Given the description of an element on the screen output the (x, y) to click on. 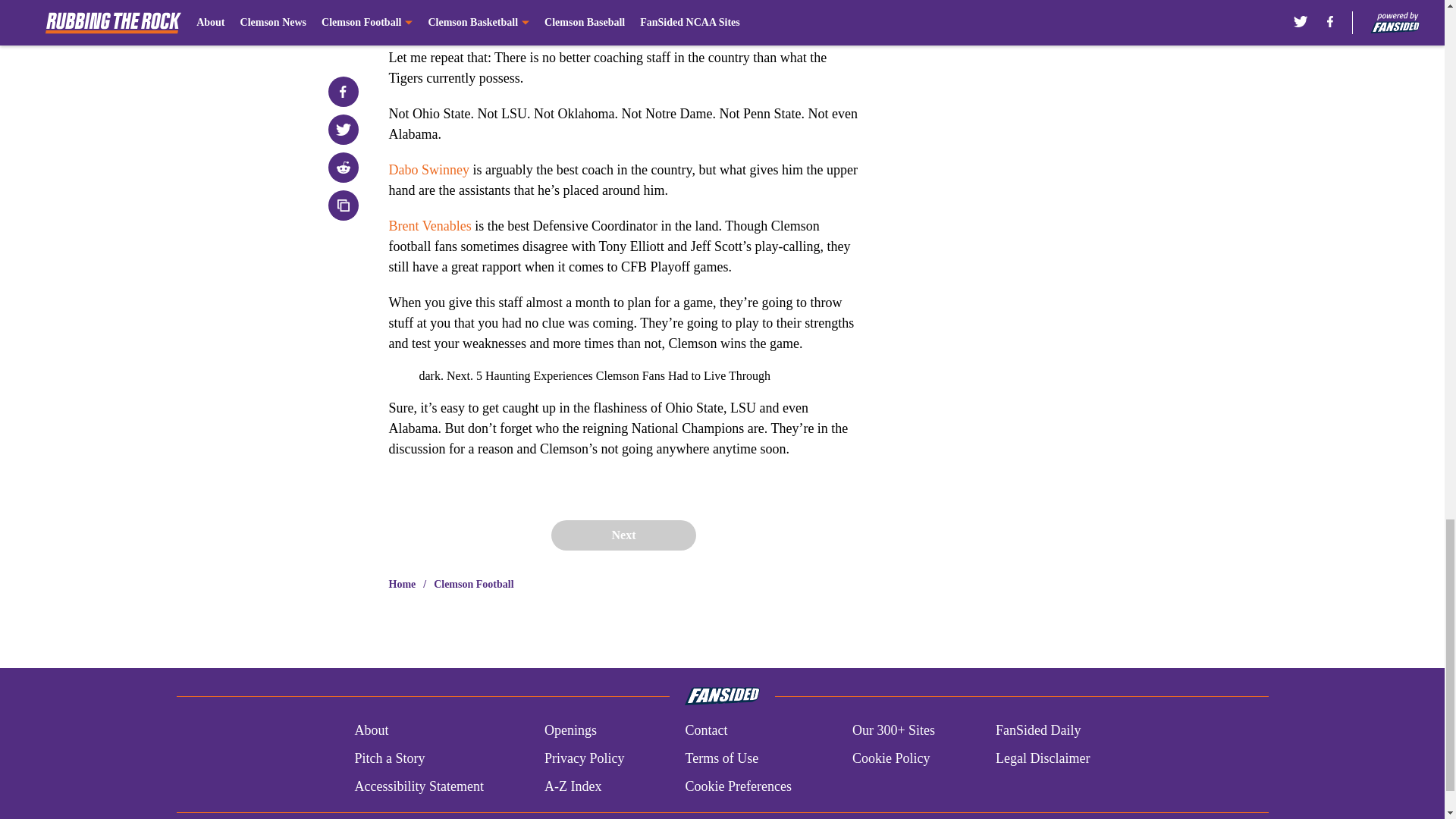
Contact (705, 730)
Home (401, 584)
Pitch a Story (389, 758)
About (370, 730)
Next (622, 535)
Privacy Policy (584, 758)
Clemson Football (473, 584)
Terms of Use (721, 758)
Dabo Swinney (428, 169)
FanSided Daily (1038, 730)
